Given the description of an element on the screen output the (x, y) to click on. 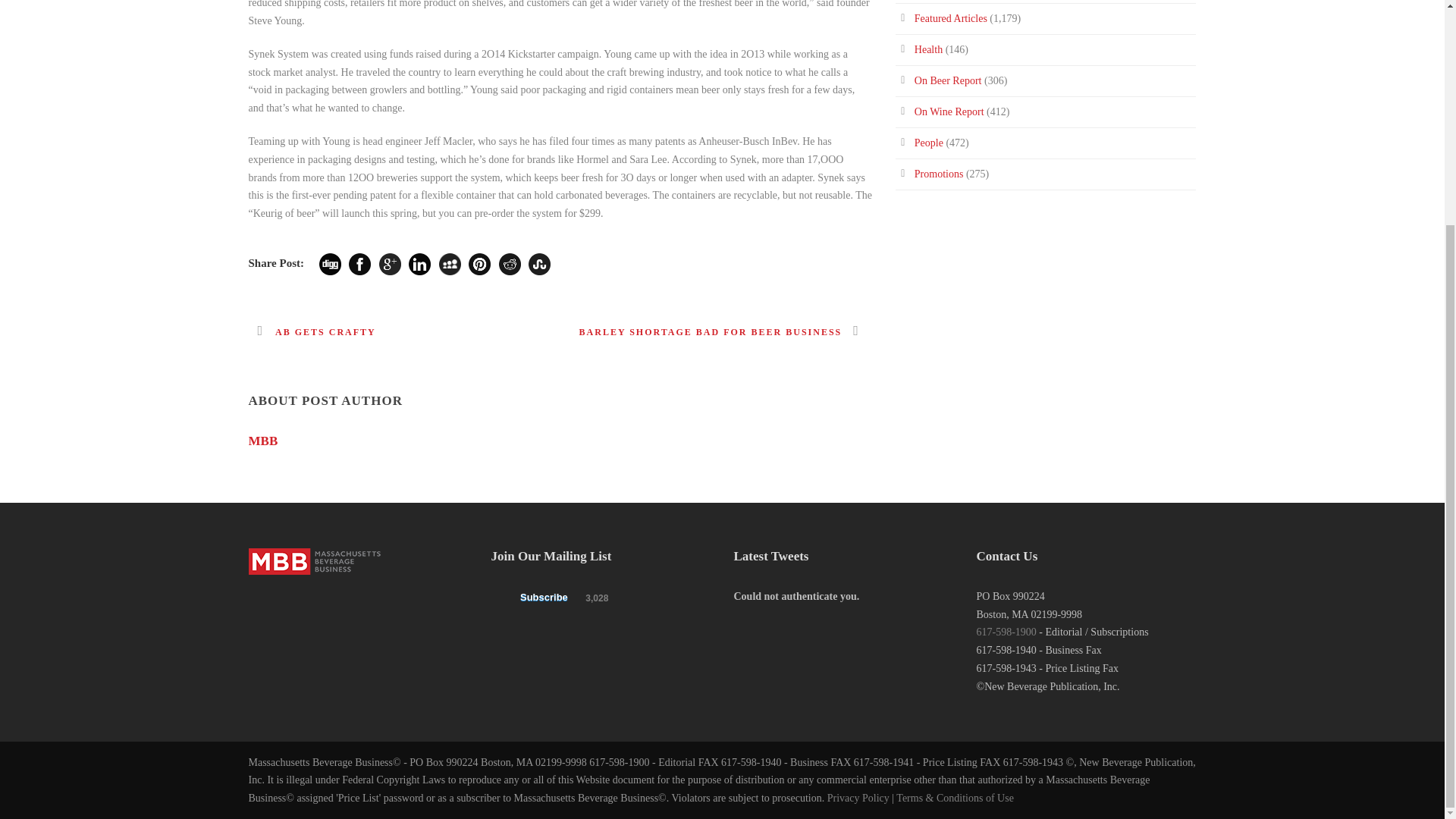
Preview (552, 598)
Posts by MBB (263, 440)
